Given the description of an element on the screen output the (x, y) to click on. 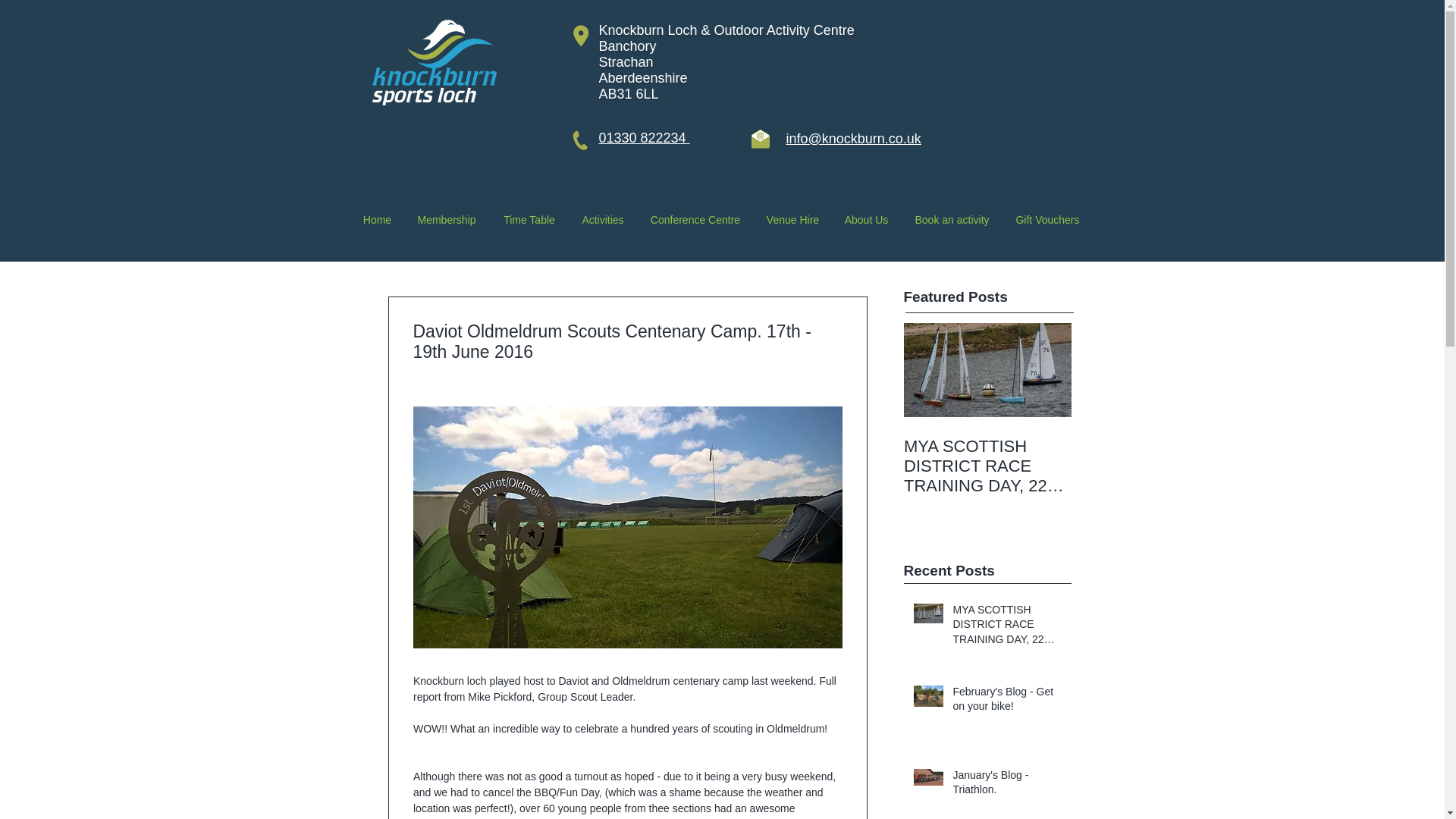
Gift Vouchers (1047, 219)
Membership (446, 219)
Activities (602, 219)
Knockburn Logo JPEG.png (434, 59)
MYA SCOTTISH DISTRICT RACE TRAINING DAY, 22 APRIL 2017 (1006, 626)
Book an activity (952, 219)
Venue Hire (792, 219)
01330 822234  (644, 137)
Conference Centre (695, 219)
MYA SCOTTISH DISTRICT RACE TRAINING DAY, 22 APRIL 2017 (987, 466)
February's Blog - Get on your bike! (1006, 701)
Time Table (529, 219)
Home (376, 219)
January's Blog - Triathlon. (1006, 785)
